Given the description of an element on the screen output the (x, y) to click on. 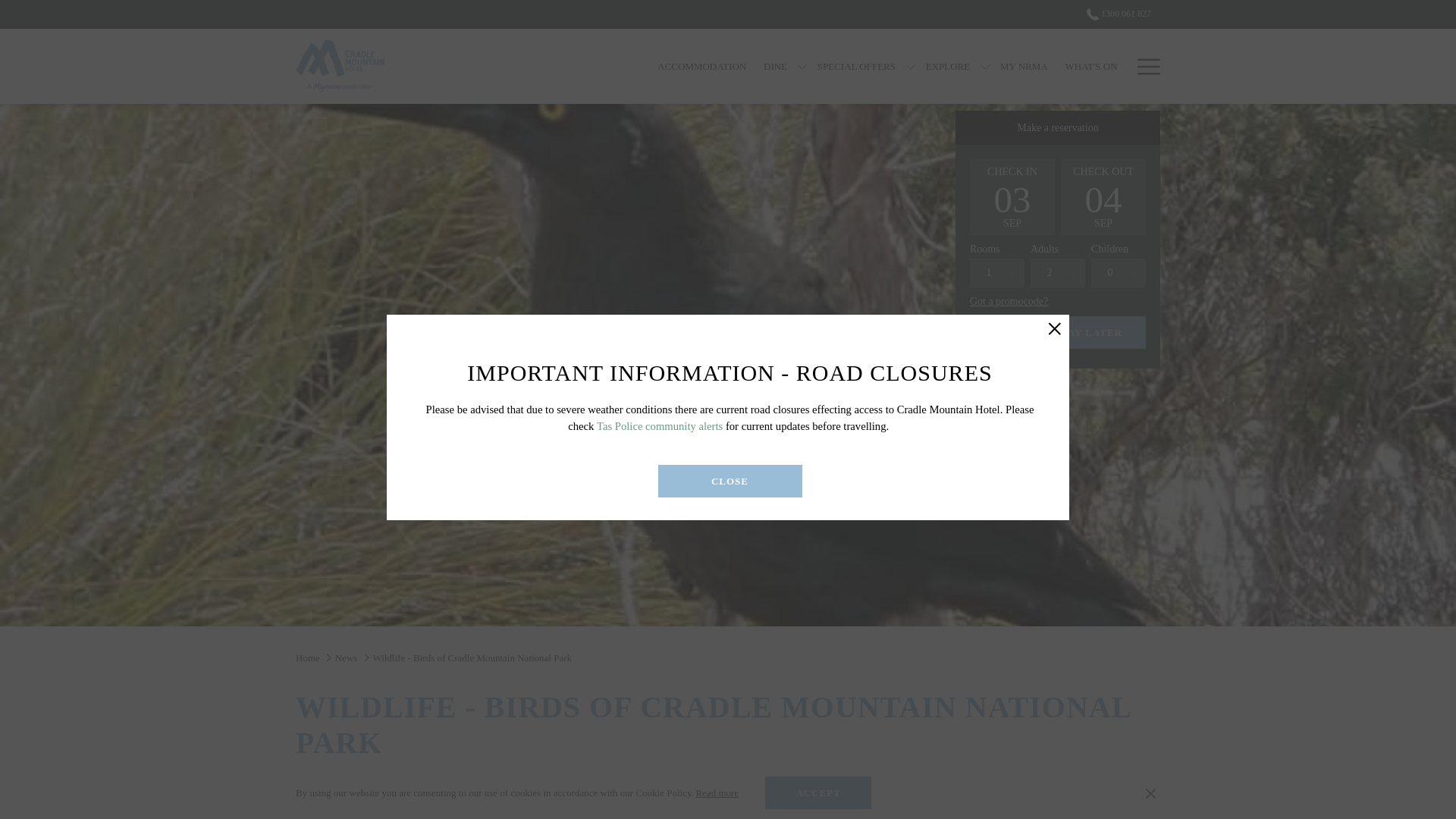
1300 061 827 (1114, 13)
 2  (1057, 272)
Read more (717, 792)
ACCEPT (817, 792)
 0  (1117, 272)
Menu (1148, 66)
Got a promocode? (1008, 301)
WHAT'S ON (1091, 66)
ACCOMMODATION (702, 66)
 1  (997, 272)
